Given the description of an element on the screen output the (x, y) to click on. 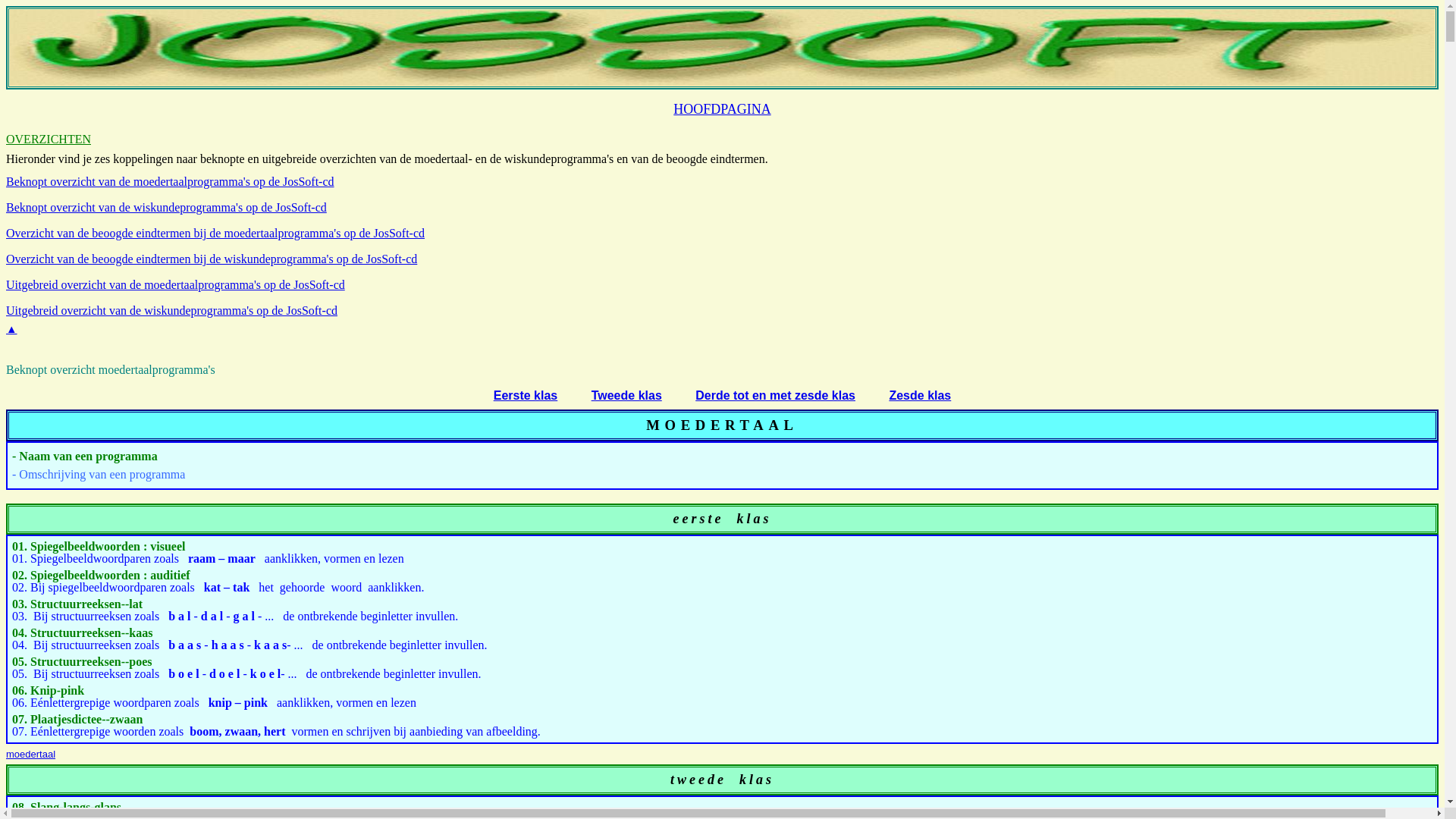
moedertaal Element type: text (30, 752)
  klas Element type: text (747, 518)
Beknopt overzicht moedertaalprogramma's Element type: text (110, 369)
Derde tot en met zesde klas Element type: text (775, 395)
weede  klas Element type: text (725, 779)
Zesde klas Element type: text (919, 395)
HOOFDPAGINA Element type: text (721, 108)
MOEDERTAAL Element type: text (721, 425)
t Element type: text (673, 779)
OVERZICHTEN Element type: text (48, 138)
eerste Element type: text (698, 518)
Eerste klas Element type: text (525, 395)
Tweede klas Element type: text (626, 395)
